Given the description of an element on the screen output the (x, y) to click on. 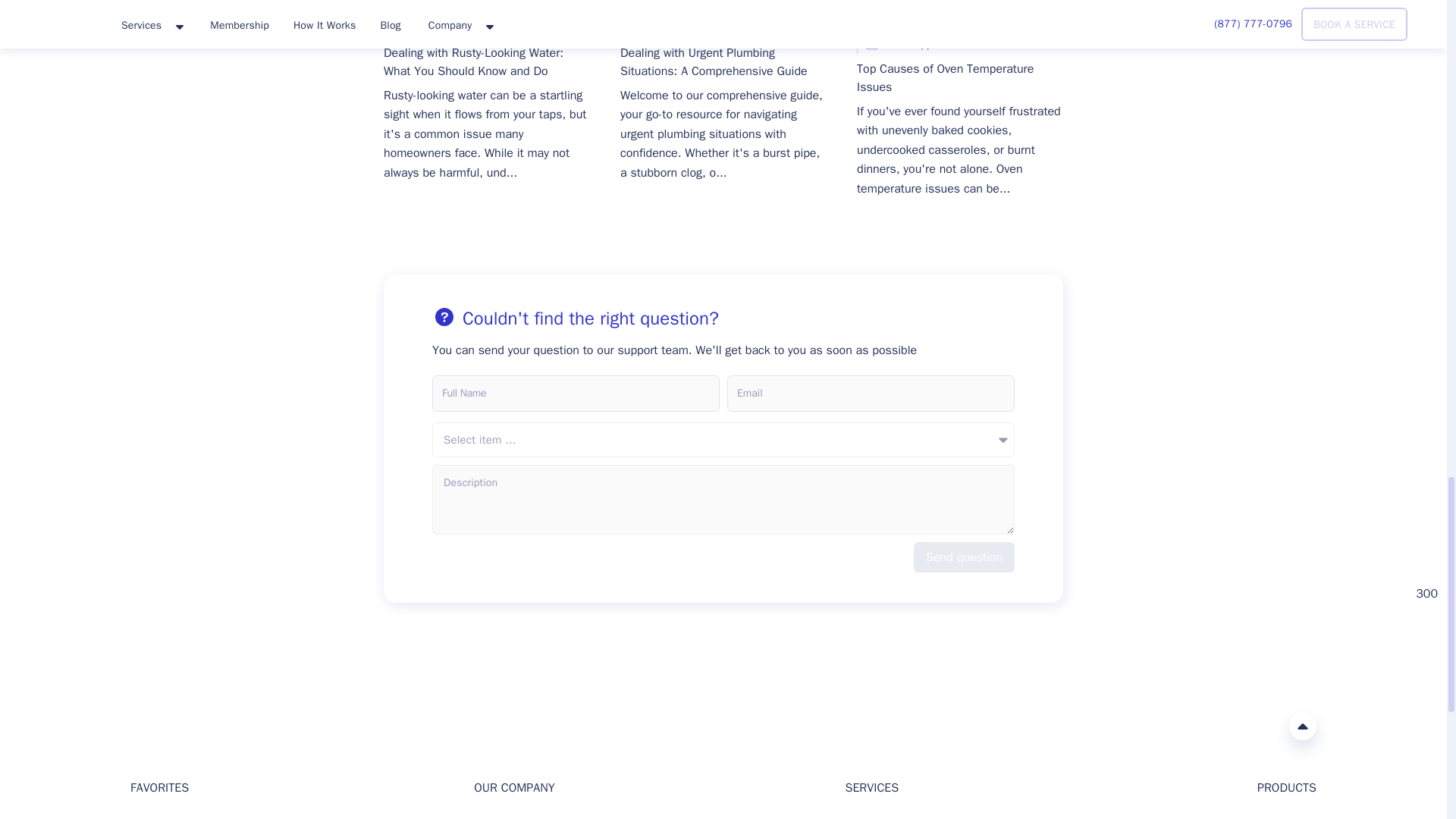
HomeAlliance (146, 725)
Welcome (152, 818)
Select item ... (723, 439)
About Us (496, 818)
Blog (959, 6)
Blog (723, 6)
Send question (964, 557)
Blog (486, 6)
